Given the description of an element on the screen output the (x, y) to click on. 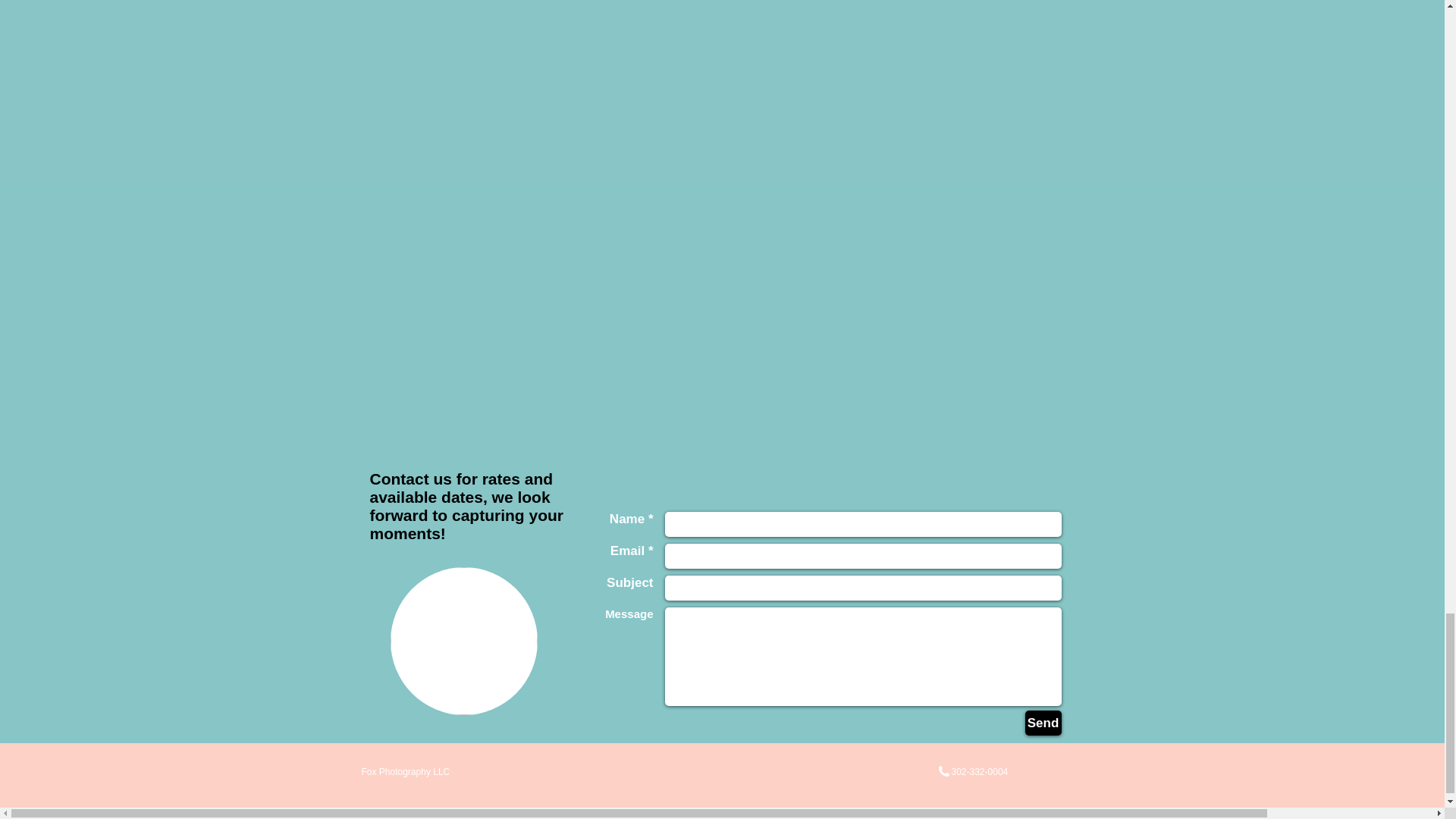
Send (1043, 722)
